Given the description of an element on the screen output the (x, y) to click on. 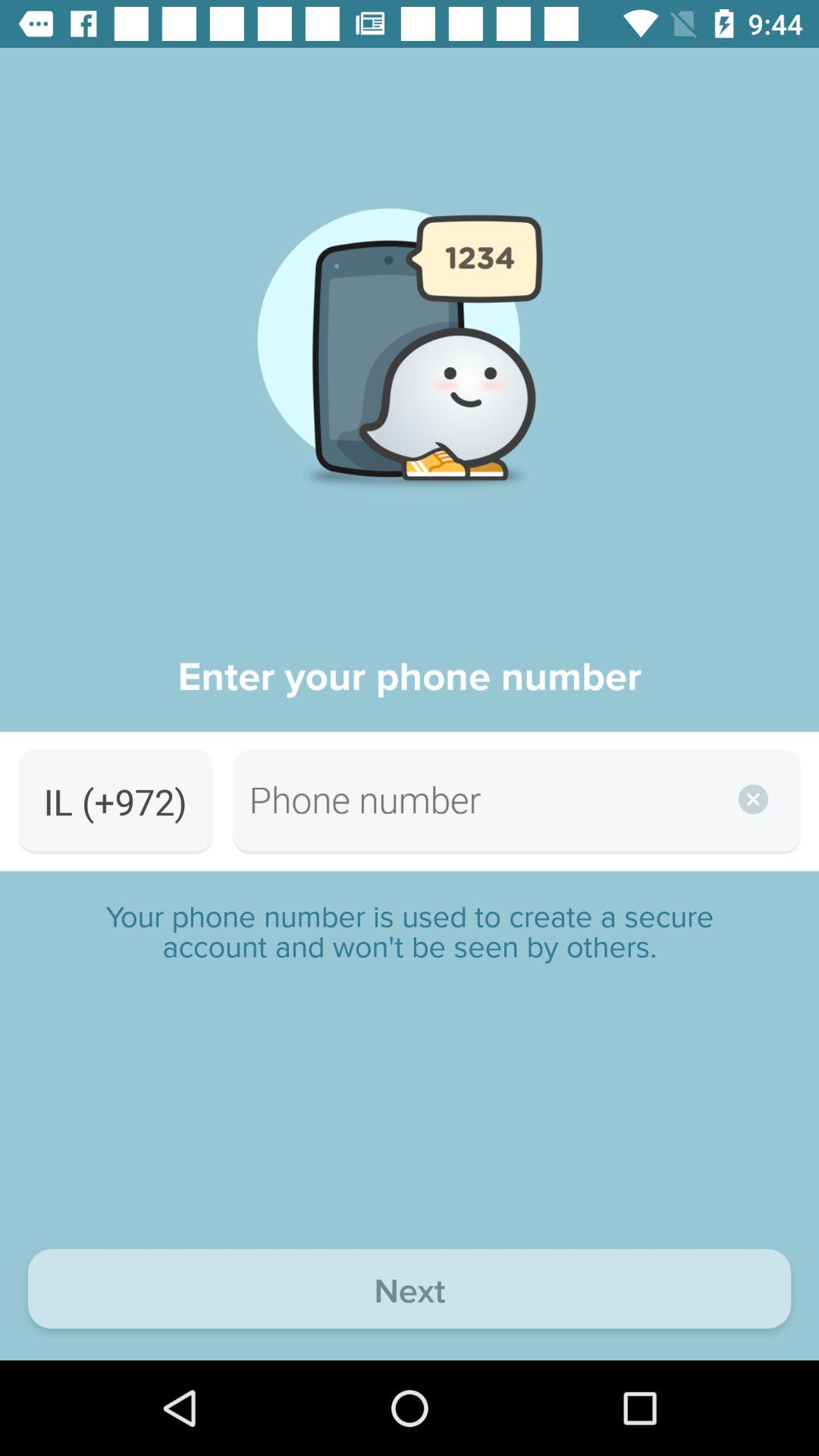
jump to the il (+972) (114, 801)
